Given the description of an element on the screen output the (x, y) to click on. 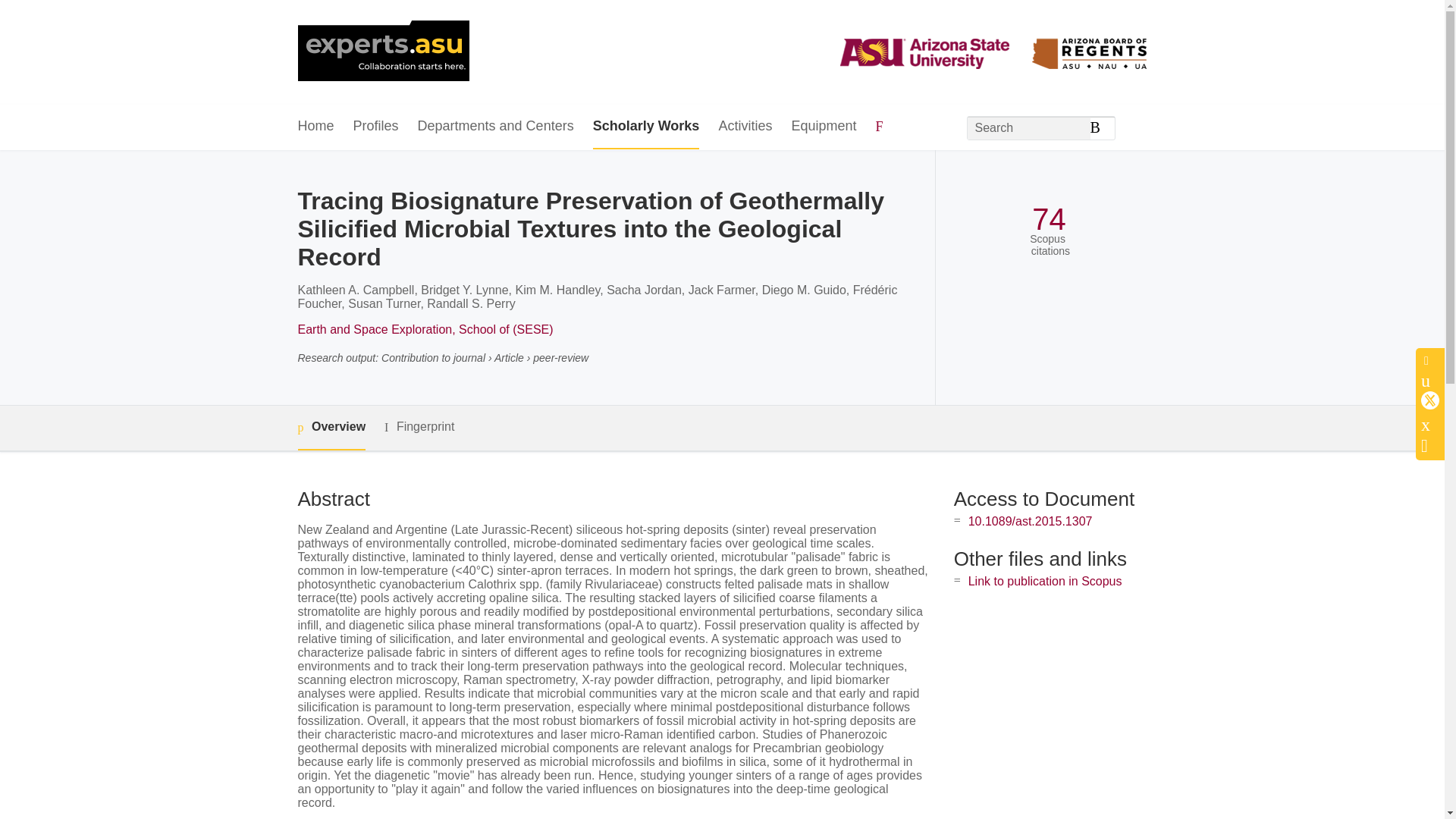
Arizona State University Home (382, 52)
Scholarly Works (646, 126)
Activities (744, 126)
Departments and Centers (495, 126)
Overview (331, 427)
Equipment (823, 126)
Fingerprint (419, 426)
Profiles (375, 126)
Link to publication in Scopus (1045, 581)
74 (1048, 219)
